Given the description of an element on the screen output the (x, y) to click on. 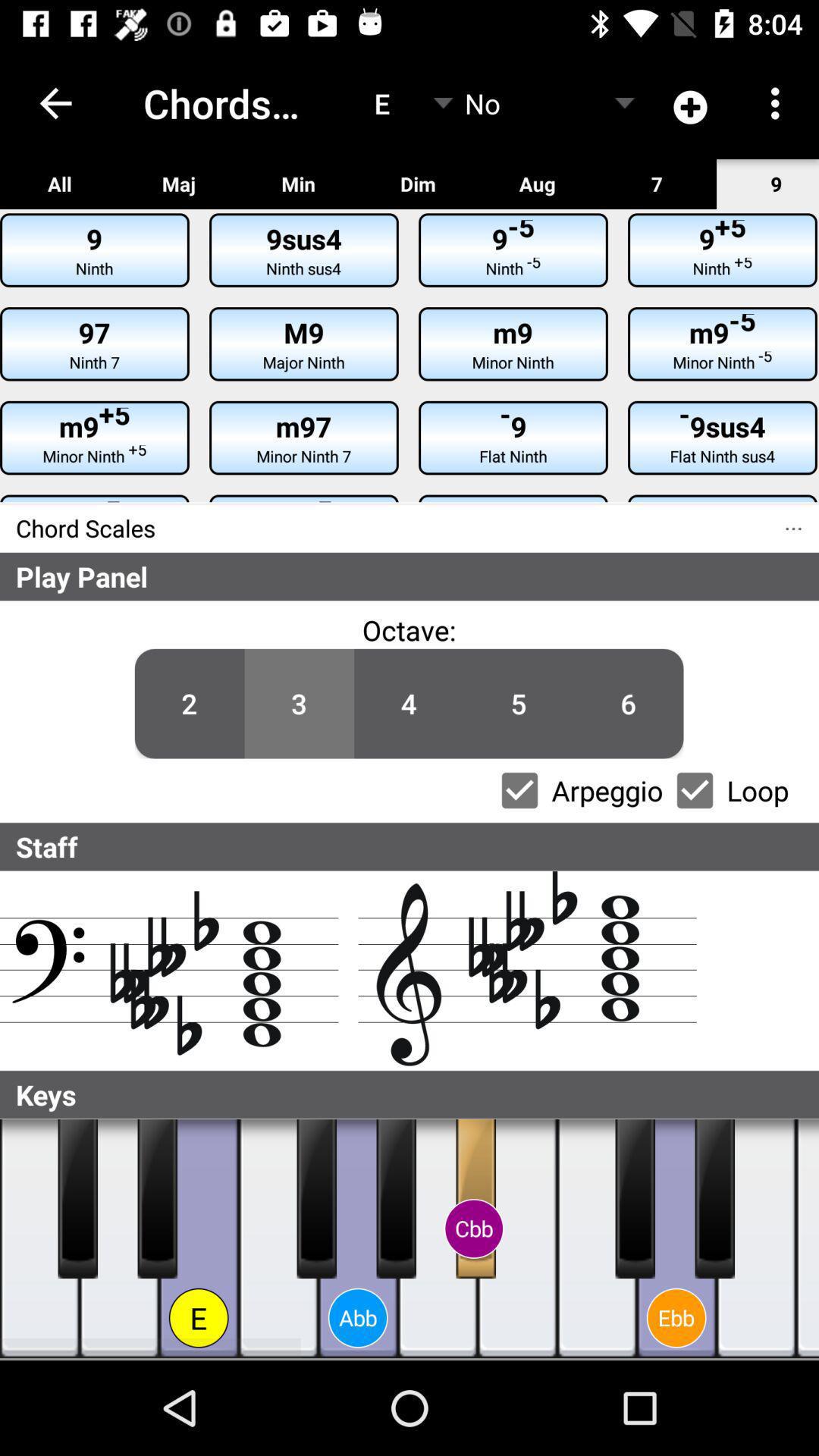
press piano key (396, 1198)
